Given the description of an element on the screen output the (x, y) to click on. 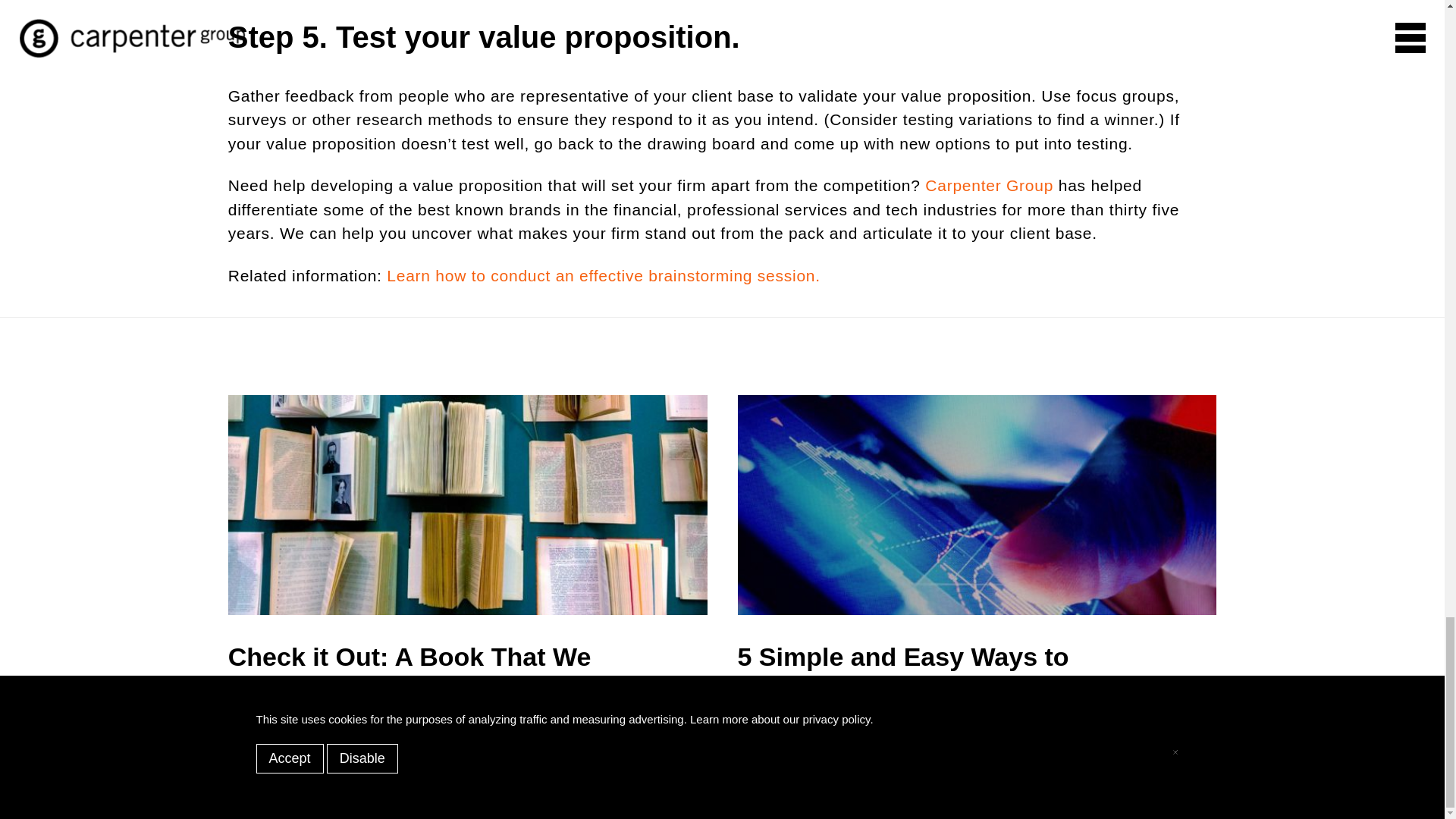
Check it Out: A Book That We LOVE (467, 664)
Learn how to conduct an effective brainstorming session. (604, 275)
Carpenter Group (988, 185)
Check it Out: A Book That We LOVE (467, 664)
